Given the description of an element on the screen output the (x, y) to click on. 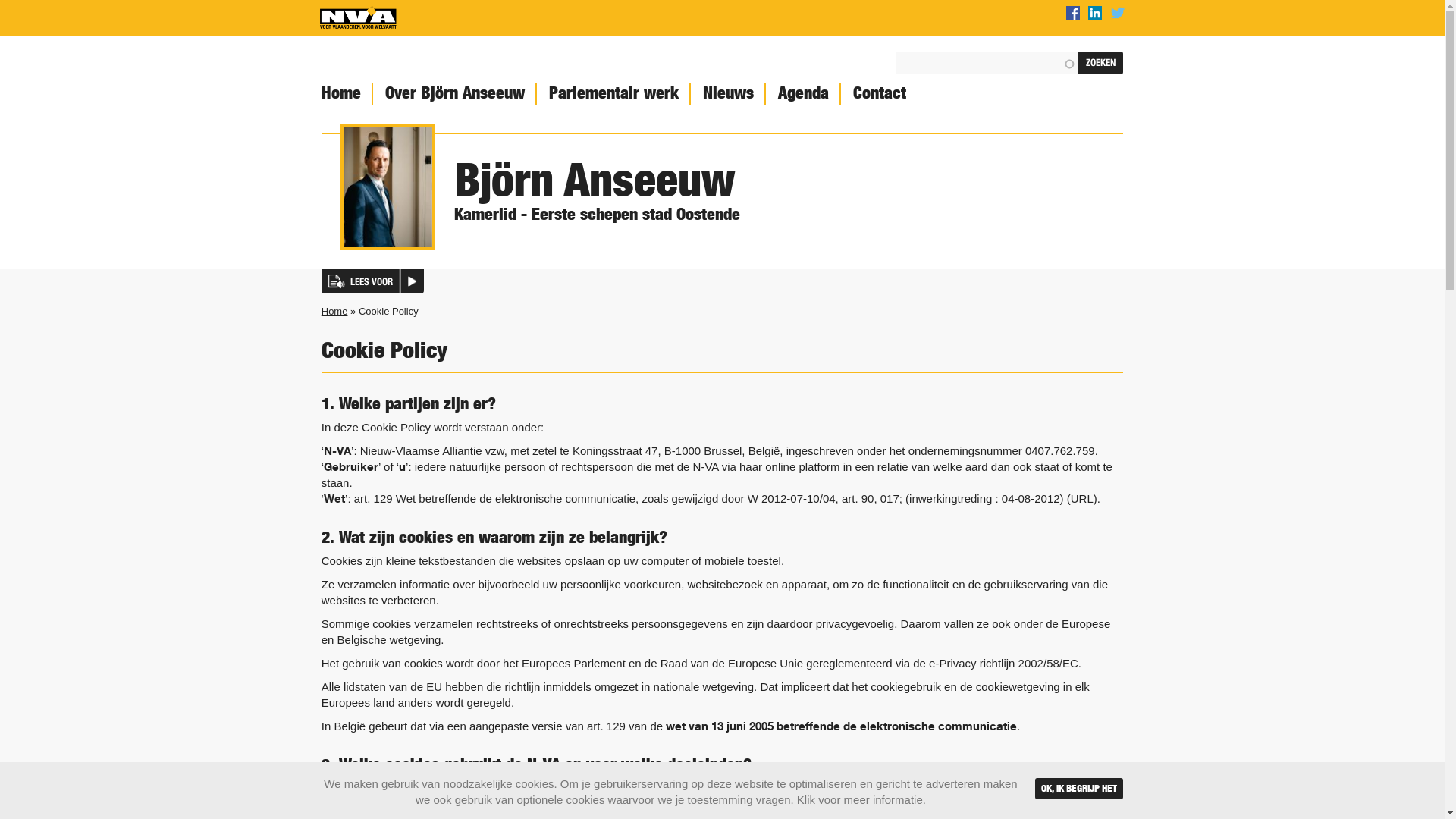
Agenda Element type: text (801, 93)
Home Element type: text (340, 93)
Geef de woorden op waarnaar u wilt zoeken. Element type: hover (986, 62)
Nieuws Element type: text (726, 93)
Zoeken Element type: text (1100, 62)
Contact Element type: text (877, 93)
Parlementair werk Element type: text (612, 93)
Klik voor meer informatie Element type: text (859, 799)
Home Element type: hover (357, 17)
LEES VOOR Element type: text (372, 280)
URL Element type: text (1081, 498)
Home Element type: text (334, 310)
OK, IK BEGRIJP HET Element type: text (1079, 788)
